Given the description of an element on the screen output the (x, y) to click on. 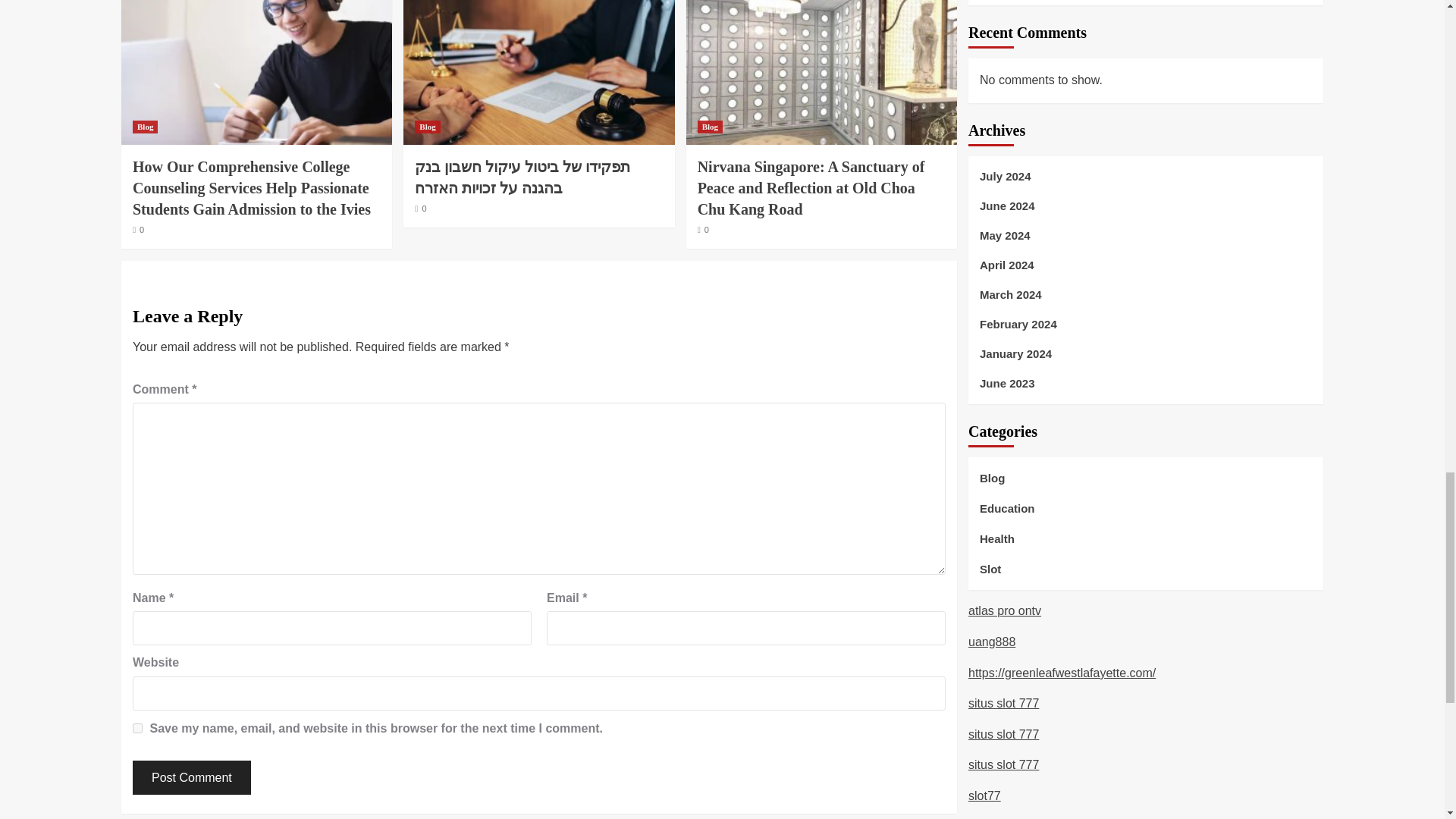
0 (420, 207)
Blog (426, 126)
yes (137, 728)
0 (138, 229)
Post Comment (191, 777)
Blog (144, 126)
Post Comment (191, 777)
0 (703, 229)
Blog (709, 126)
